Given the description of an element on the screen output the (x, y) to click on. 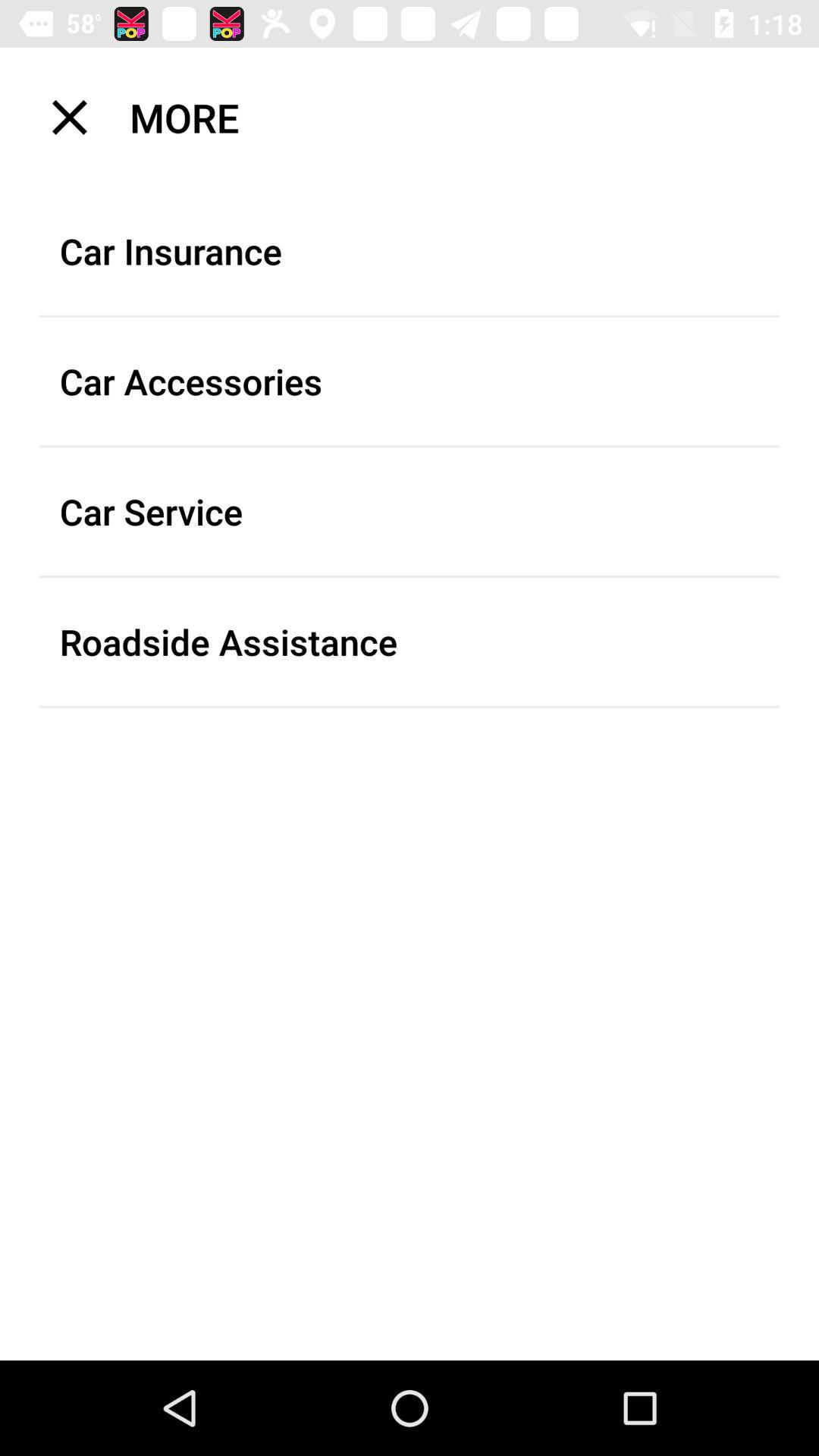
click the item below the more icon (409, 251)
